Given the description of an element on the screen output the (x, y) to click on. 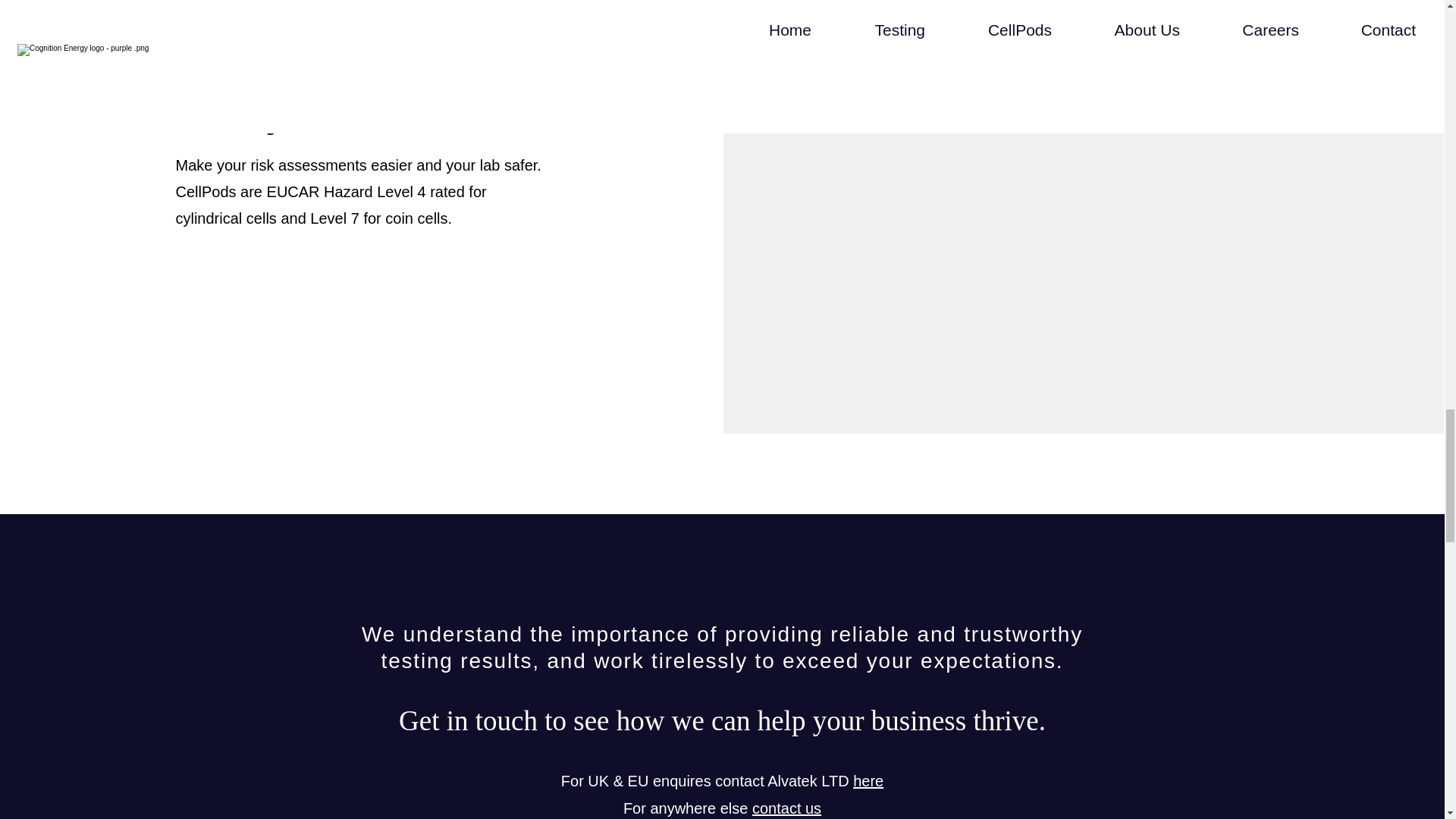
here (868, 781)
Alvatek LTD (807, 781)
contact us (786, 808)
